Given the description of an element on the screen output the (x, y) to click on. 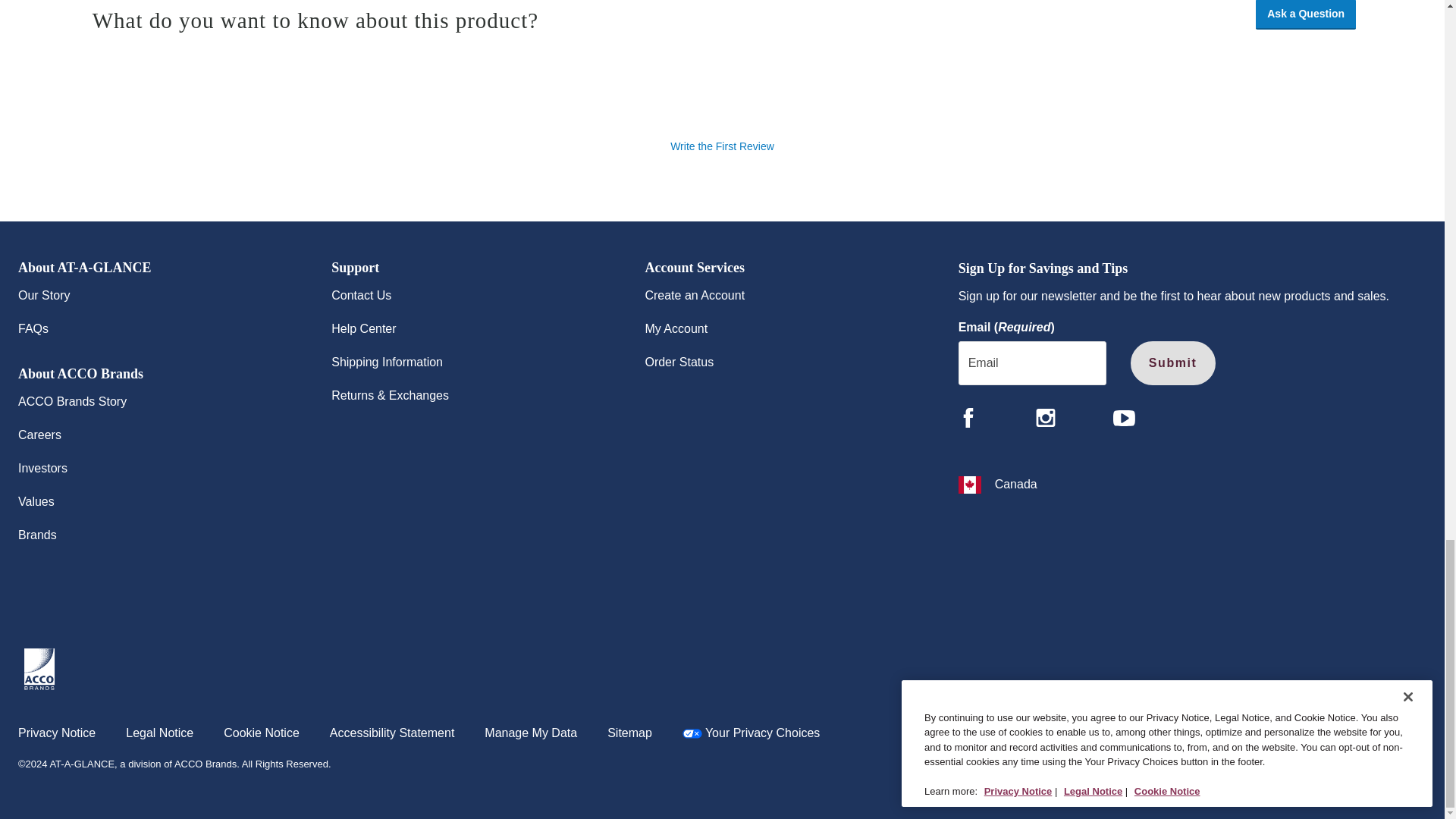
Follow us on Instagram (1045, 417)
Find us on YouTube (1124, 417)
Like us on Facebook (968, 417)
